Given the description of an element on the screen output the (x, y) to click on. 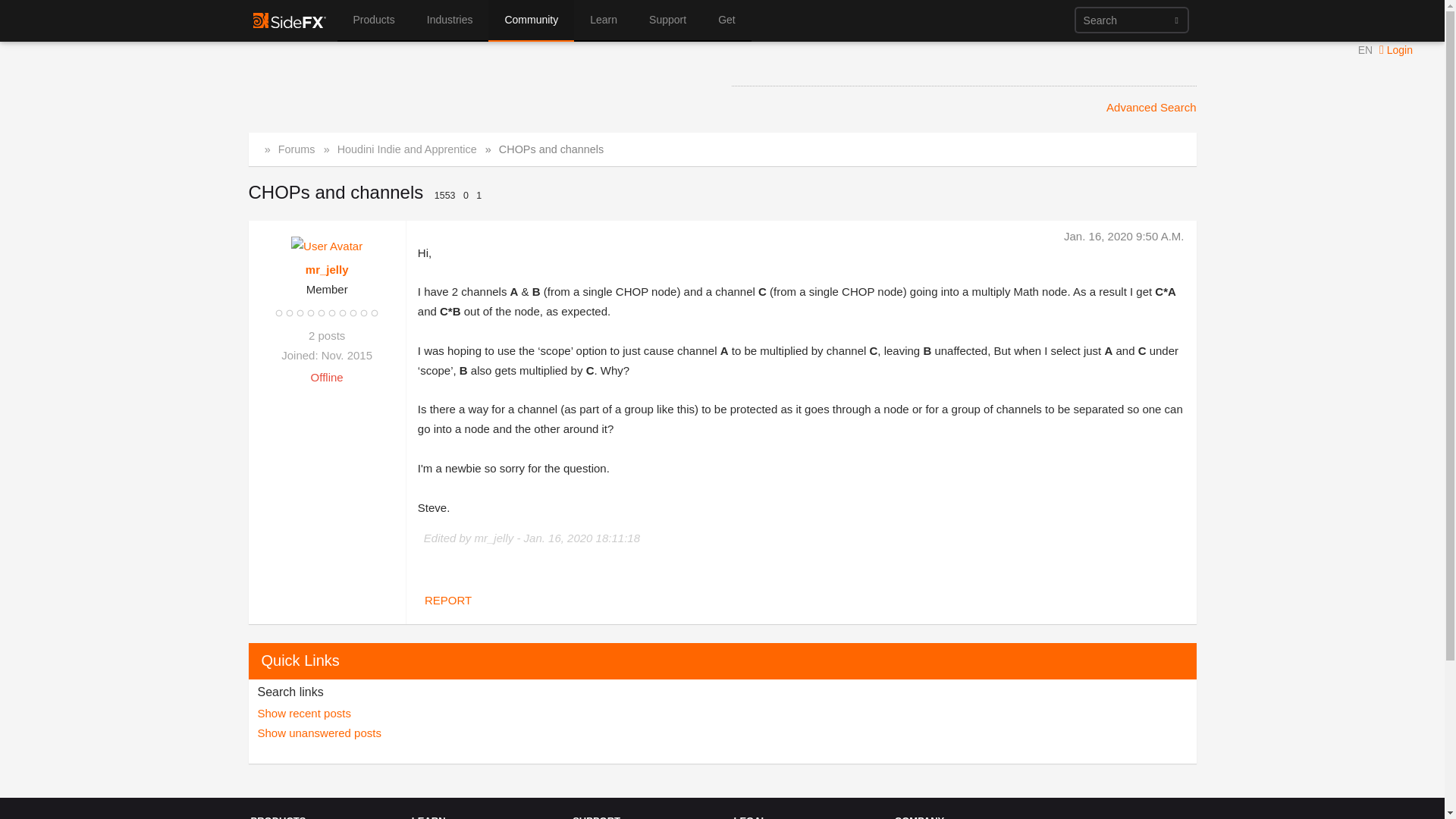
Industries (449, 20)
Community (530, 20)
Login (1403, 50)
Products (373, 20)
